Given the description of an element on the screen output the (x, y) to click on. 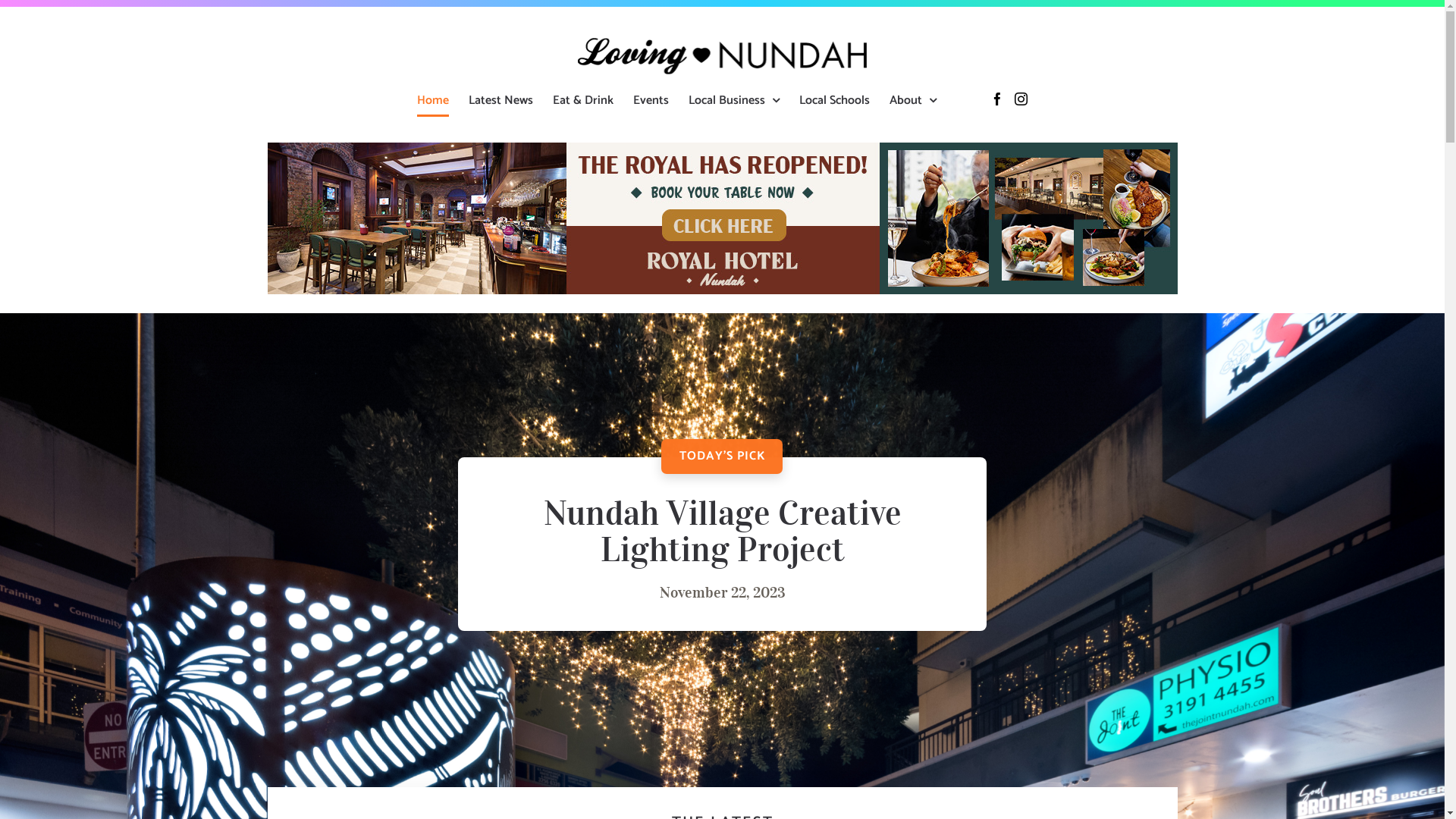
Local Business Element type: text (733, 99)
Events Element type: text (650, 99)
Latest News Element type: text (500, 99)
Eat & Drink Element type: text (582, 99)
About Element type: text (912, 99)
Local Schools Element type: text (834, 99)
Home Element type: text (432, 99)
